Given the description of an element on the screen output the (x, y) to click on. 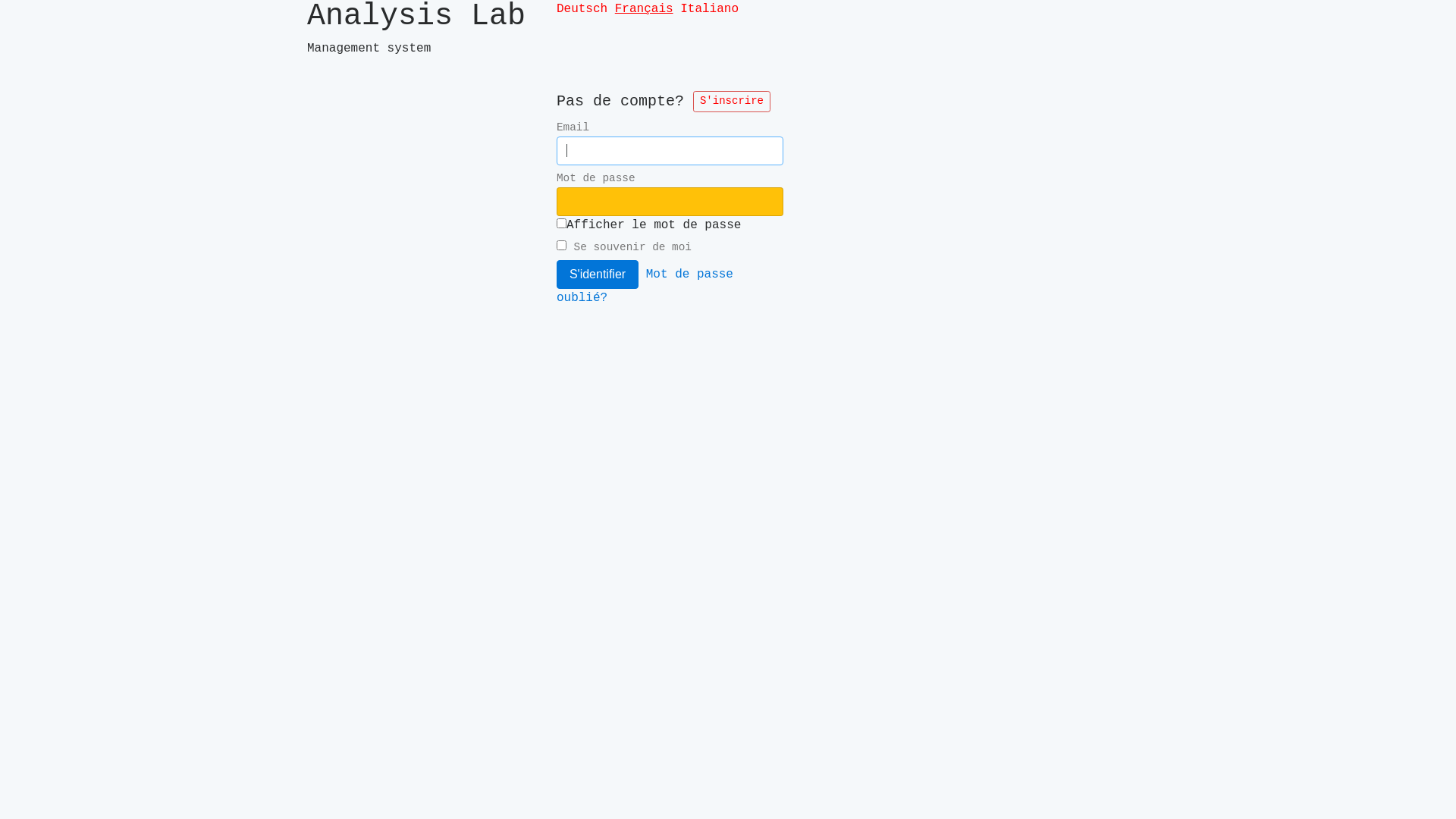
S'inscrire Element type: text (731, 101)
on Element type: text (561, 223)
Italiano Element type: text (709, 8)
S'identifier Element type: text (597, 273)
Deutsch Element type: text (581, 8)
